Given the description of an element on the screen output the (x, y) to click on. 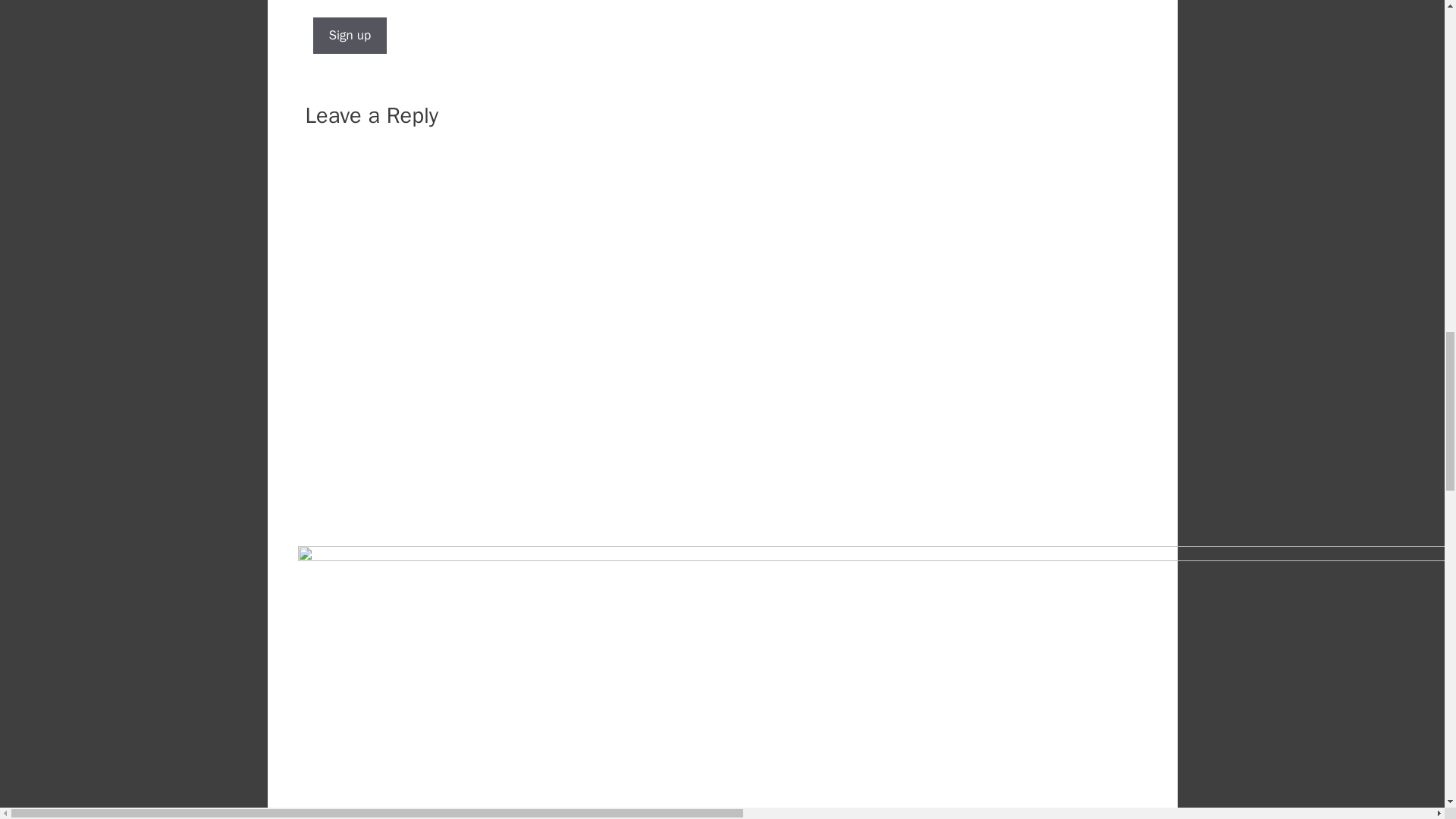
Sign up (350, 35)
Sign up (350, 35)
